Given the description of an element on the screen output the (x, y) to click on. 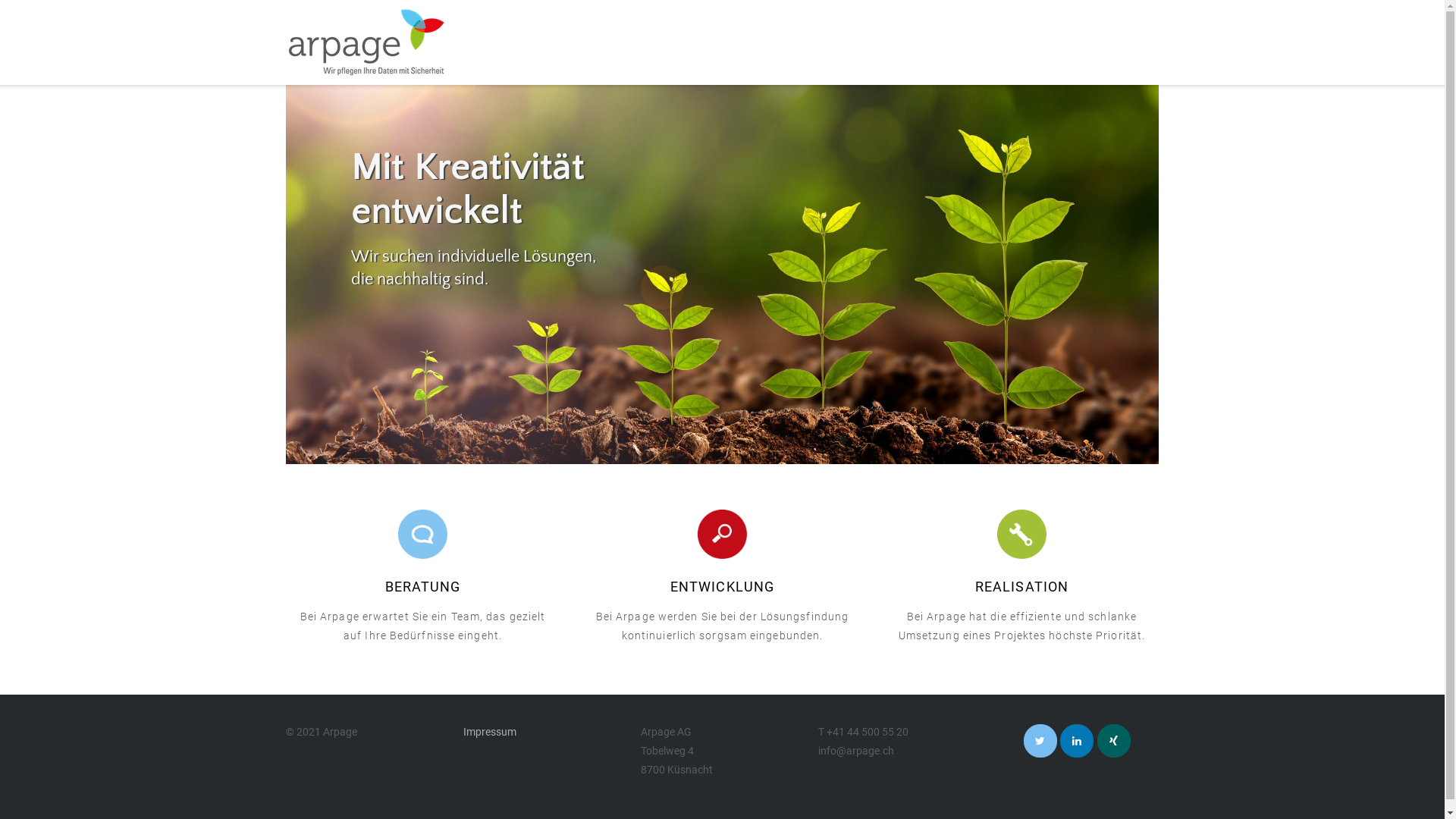
Arpage on Linkedin Element type: hover (1076, 740)
Arpage on Xing Element type: hover (1113, 740)
Arpage on Twitter Element type: hover (1040, 740)
Direkt zum Inhalt Element type: text (0, 0)
Impressum Element type: text (489, 731)
